Given the description of an element on the screen output the (x, y) to click on. 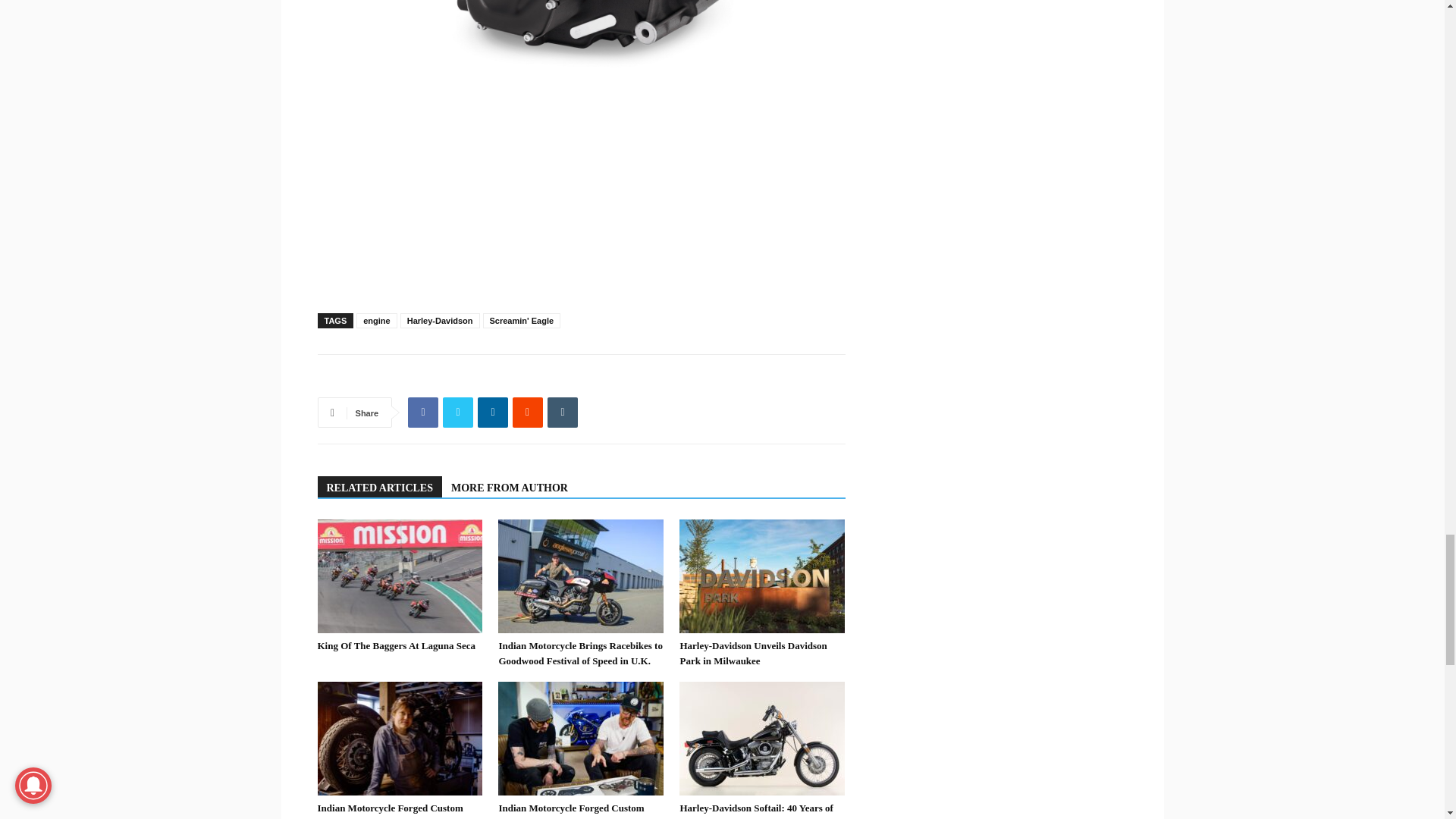
bottomFacebookLike (430, 378)
Linkedin (492, 412)
Facebook (422, 412)
Tumblr (562, 412)
ReddIt (527, 412)
Twitter (457, 412)
